Given the description of an element on the screen output the (x, y) to click on. 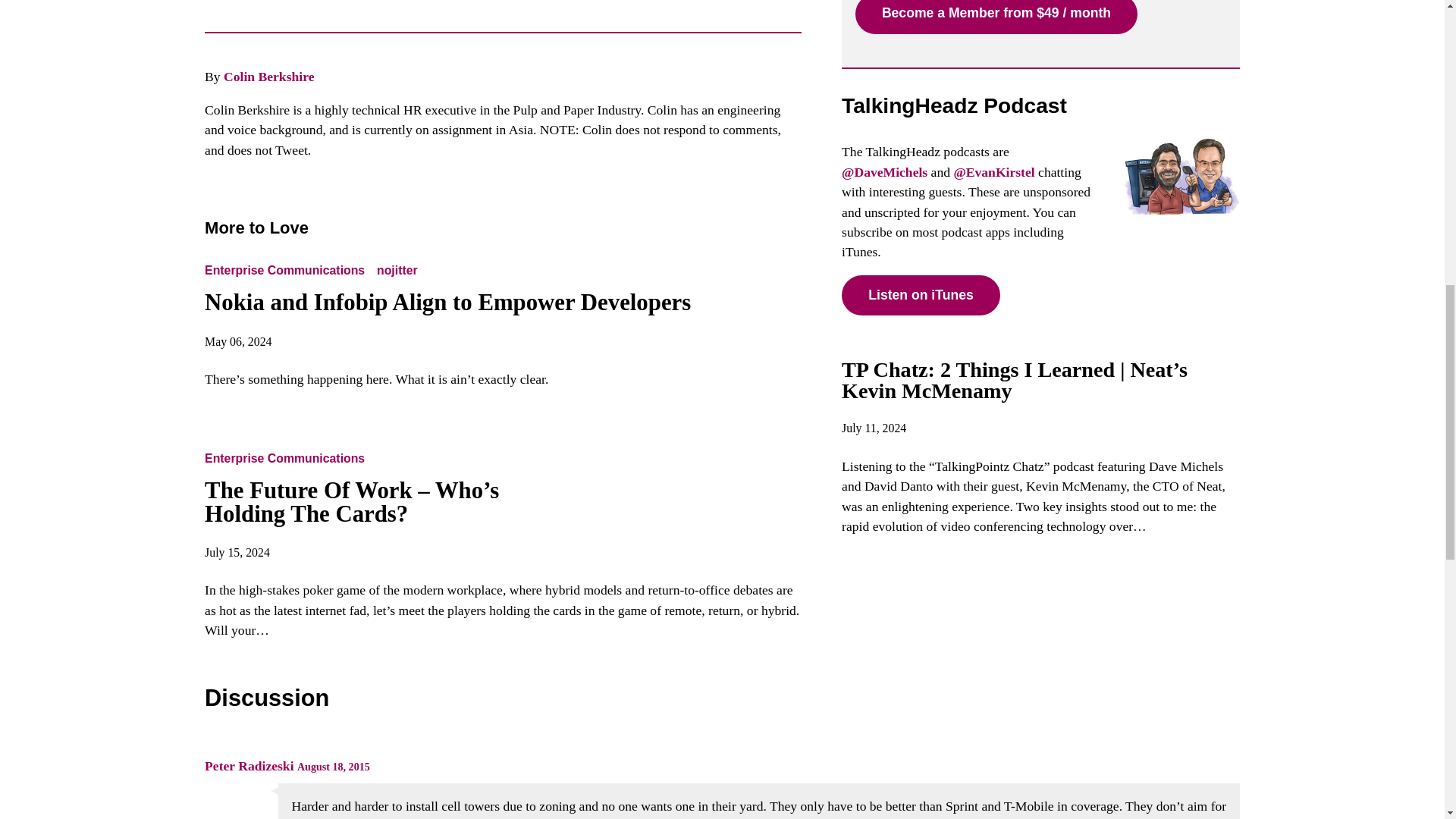
Peter Radizeski (249, 765)
View all posts in nojitter (397, 269)
Listen on iTunes (920, 295)
Nokia and Infobip Align to Empower Developers (447, 302)
Enterprise Communications (288, 269)
Enterprise Communications (288, 458)
nojitter (397, 269)
View all posts in Enterprise Communications (288, 269)
August 18, 2015 (333, 766)
View all posts in Enterprise Communications (288, 458)
Colin Berkshire (269, 76)
